Given the description of an element on the screen output the (x, y) to click on. 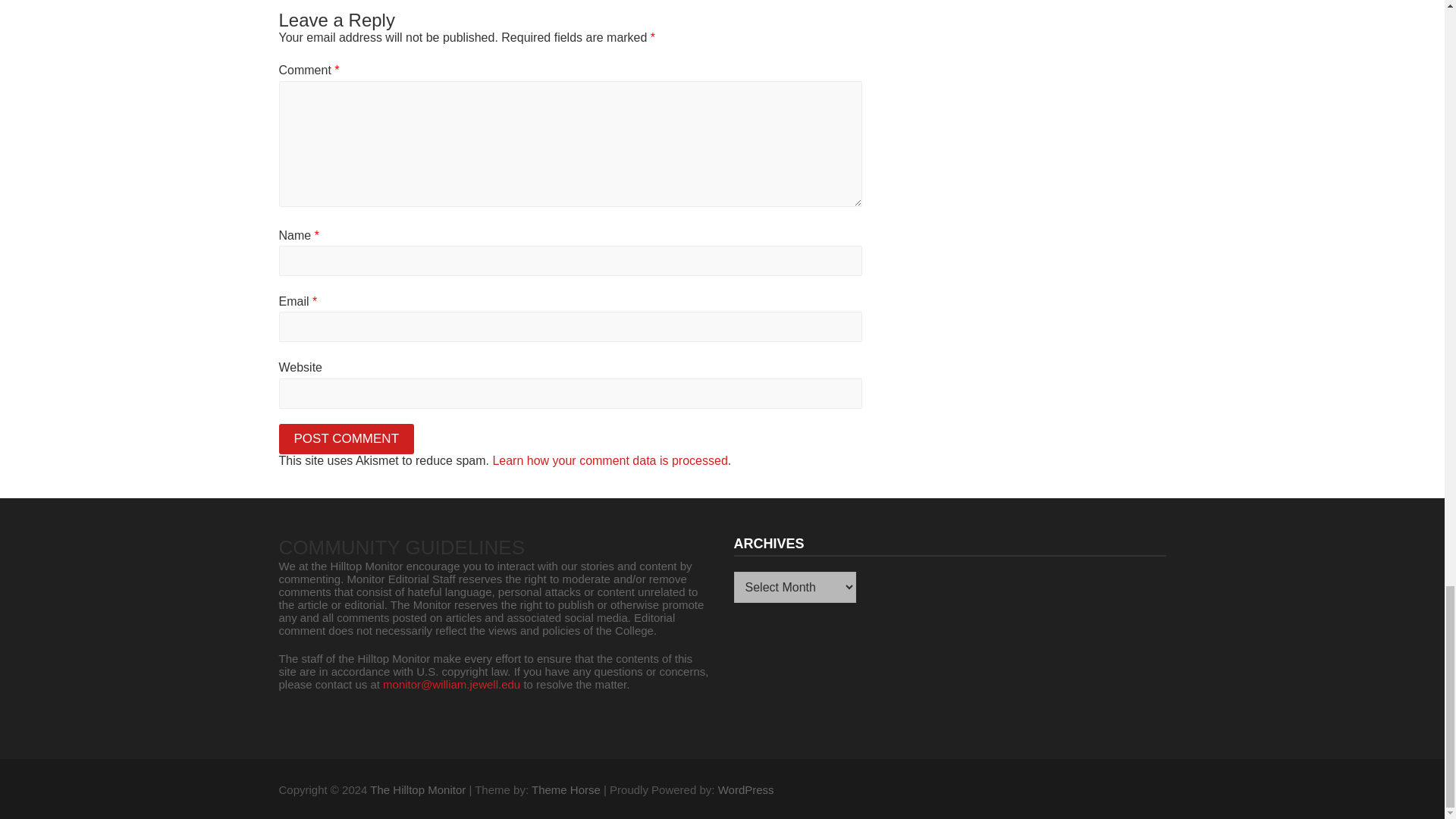
Theme Horse (565, 789)
Post Comment (346, 439)
WordPress (745, 789)
The Hilltop Monitor (417, 789)
